Given the description of an element on the screen output the (x, y) to click on. 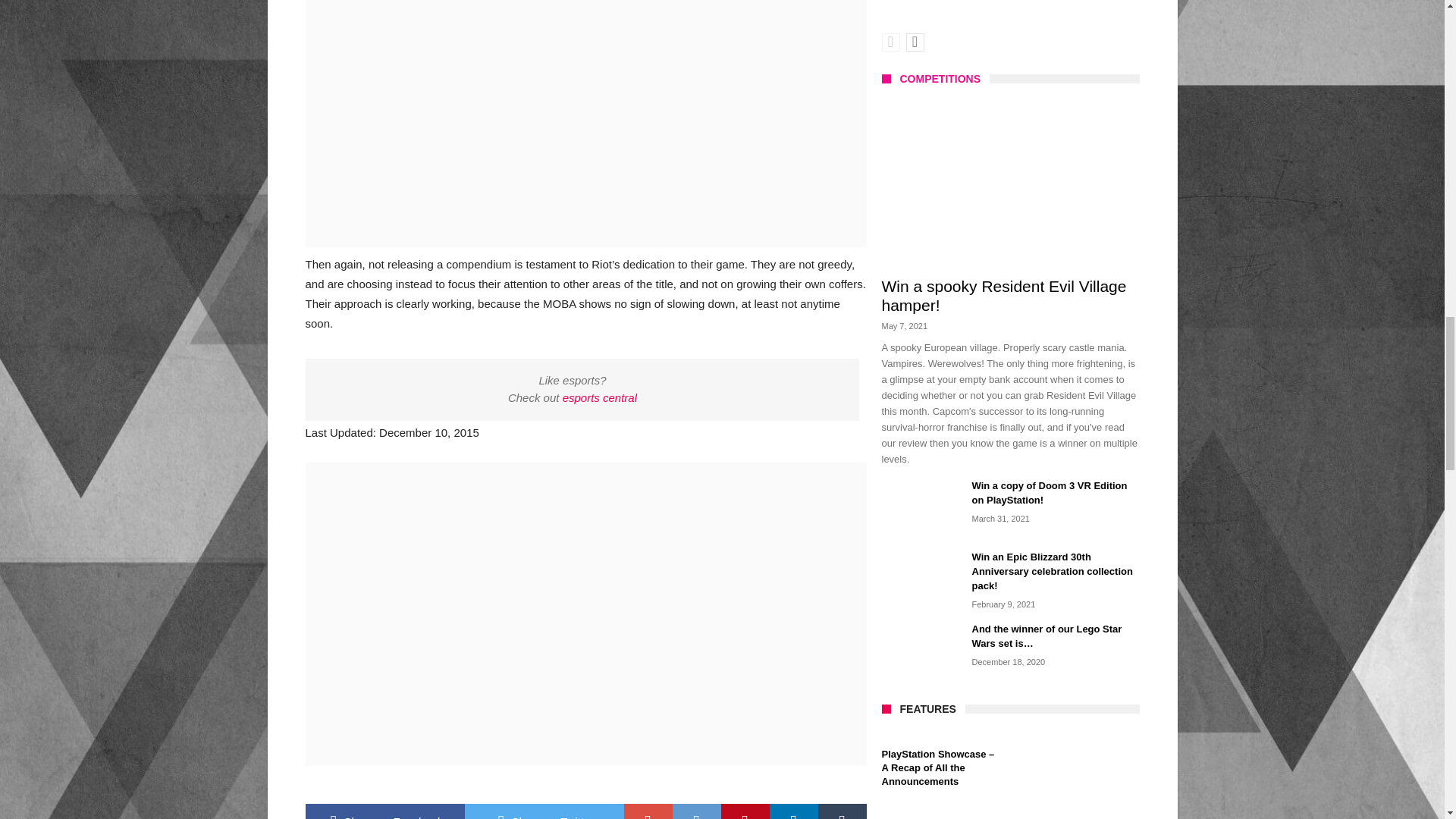
Share on Linkedin (792, 811)
Share on Facebook (384, 811)
Share on Reddit (695, 811)
Share on Twitter (543, 811)
Share on Pinterest (744, 811)
Share on Tumblr (841, 811)
esports central (599, 397)
